Given the description of an element on the screen output the (x, y) to click on. 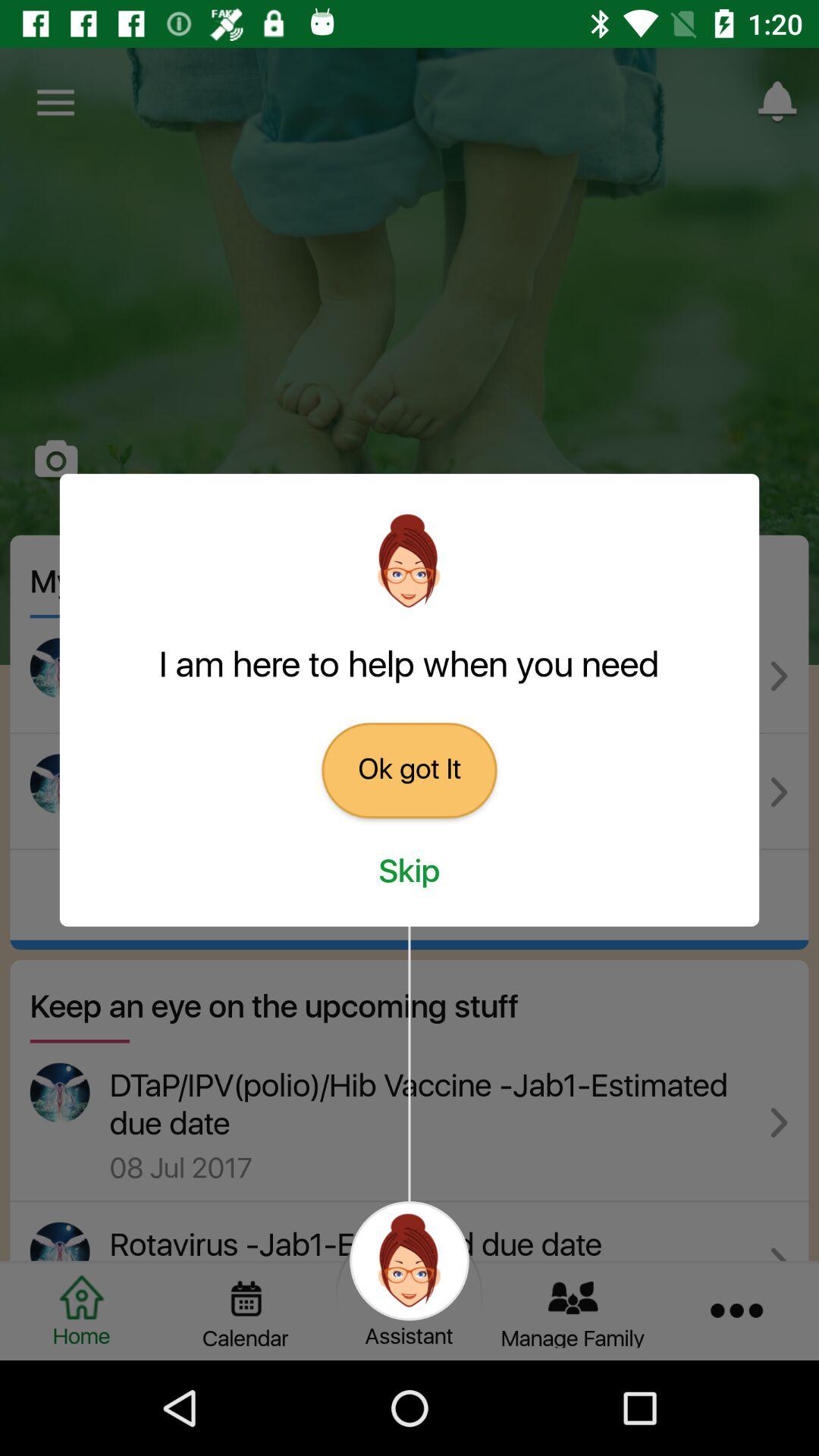
turn off icon below the ok got it icon (409, 872)
